Given the description of an element on the screen output the (x, y) to click on. 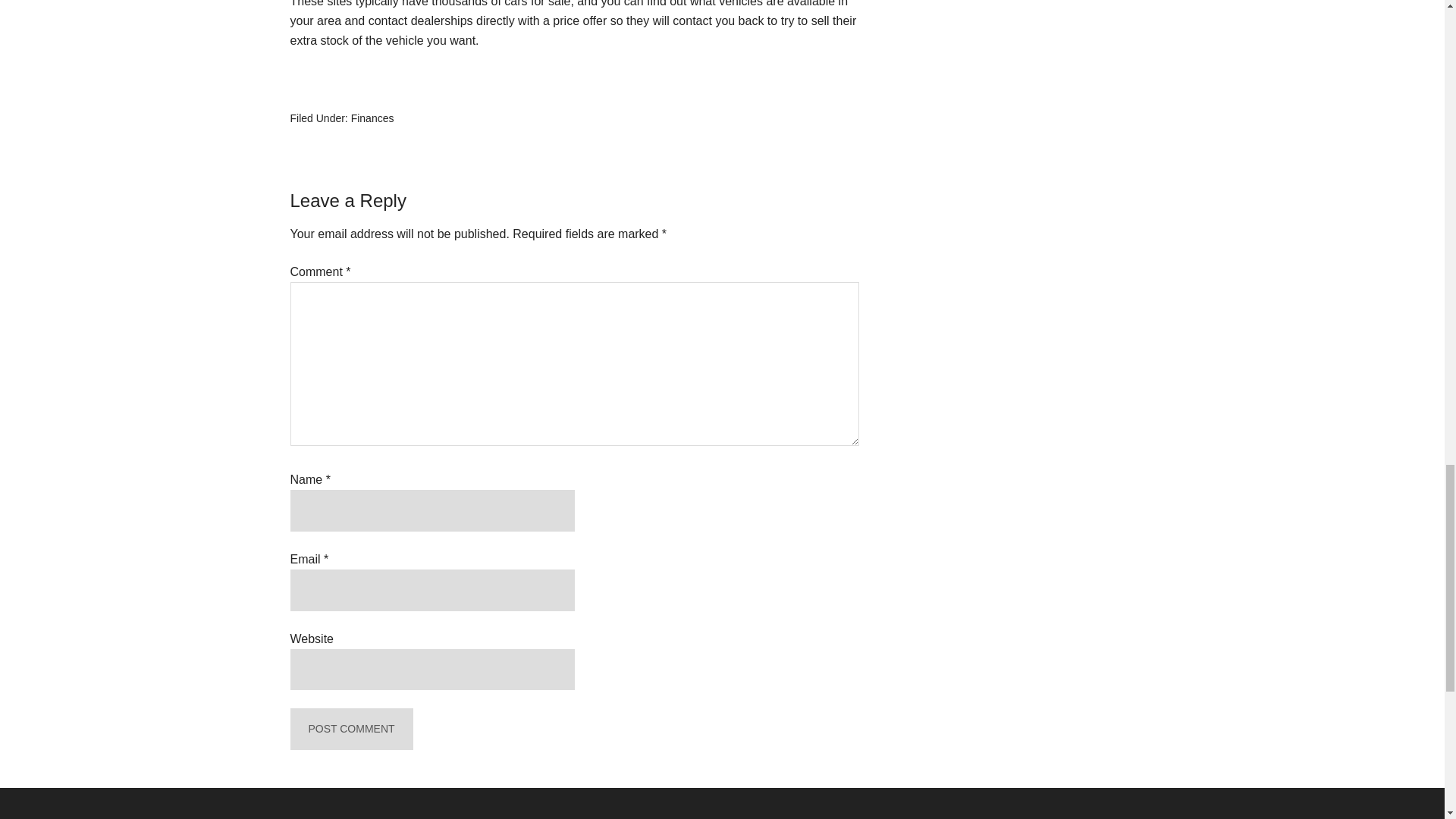
Post Comment (350, 729)
Finances (372, 118)
Post Comment (350, 729)
